Given the description of an element on the screen output the (x, y) to click on. 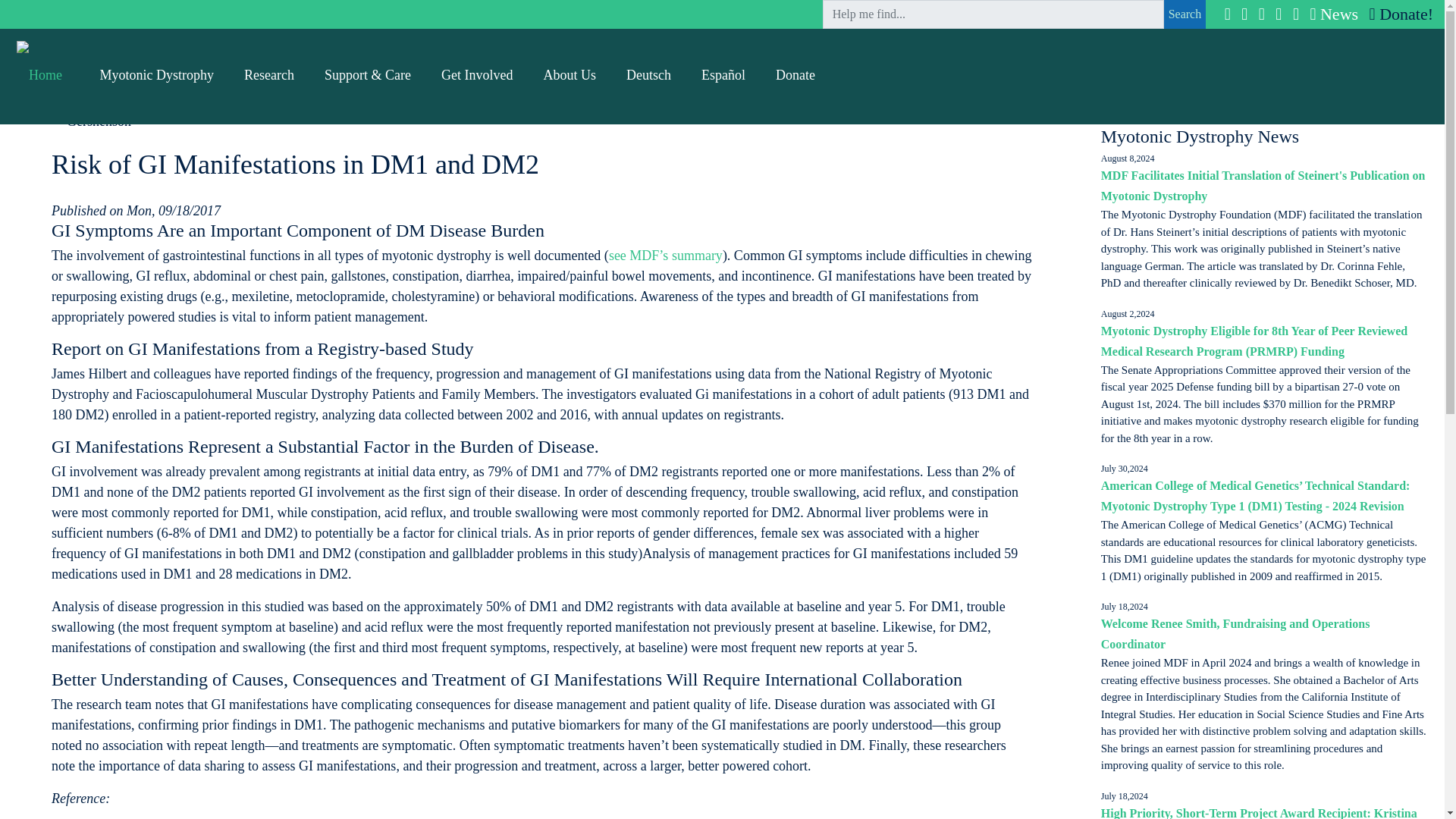
Donate to MDF (1398, 13)
News (1332, 13)
Search (1185, 14)
Search (1185, 14)
Research (268, 74)
Myotonic Dystrophy in a nutshell. (157, 74)
Skip to main content (61, 11)
Information on recent DM research advances. (268, 74)
Myotonic Dystrophy (157, 74)
 Donate! (1398, 13)
